Given the description of an element on the screen output the (x, y) to click on. 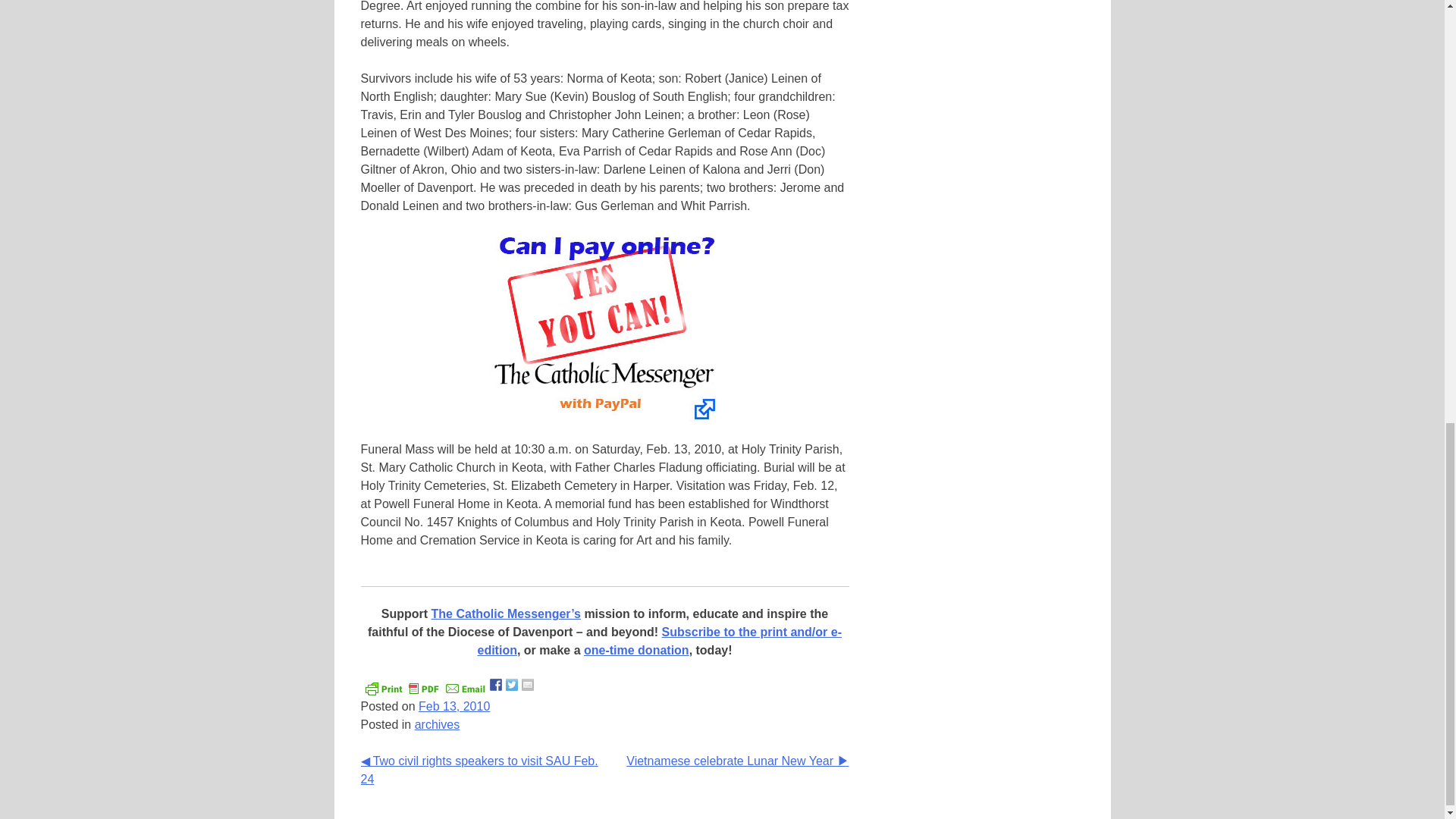
Share on Facebook (495, 684)
Share by email (527, 684)
Share on Twitter (510, 684)
